Given the description of an element on the screen output the (x, y) to click on. 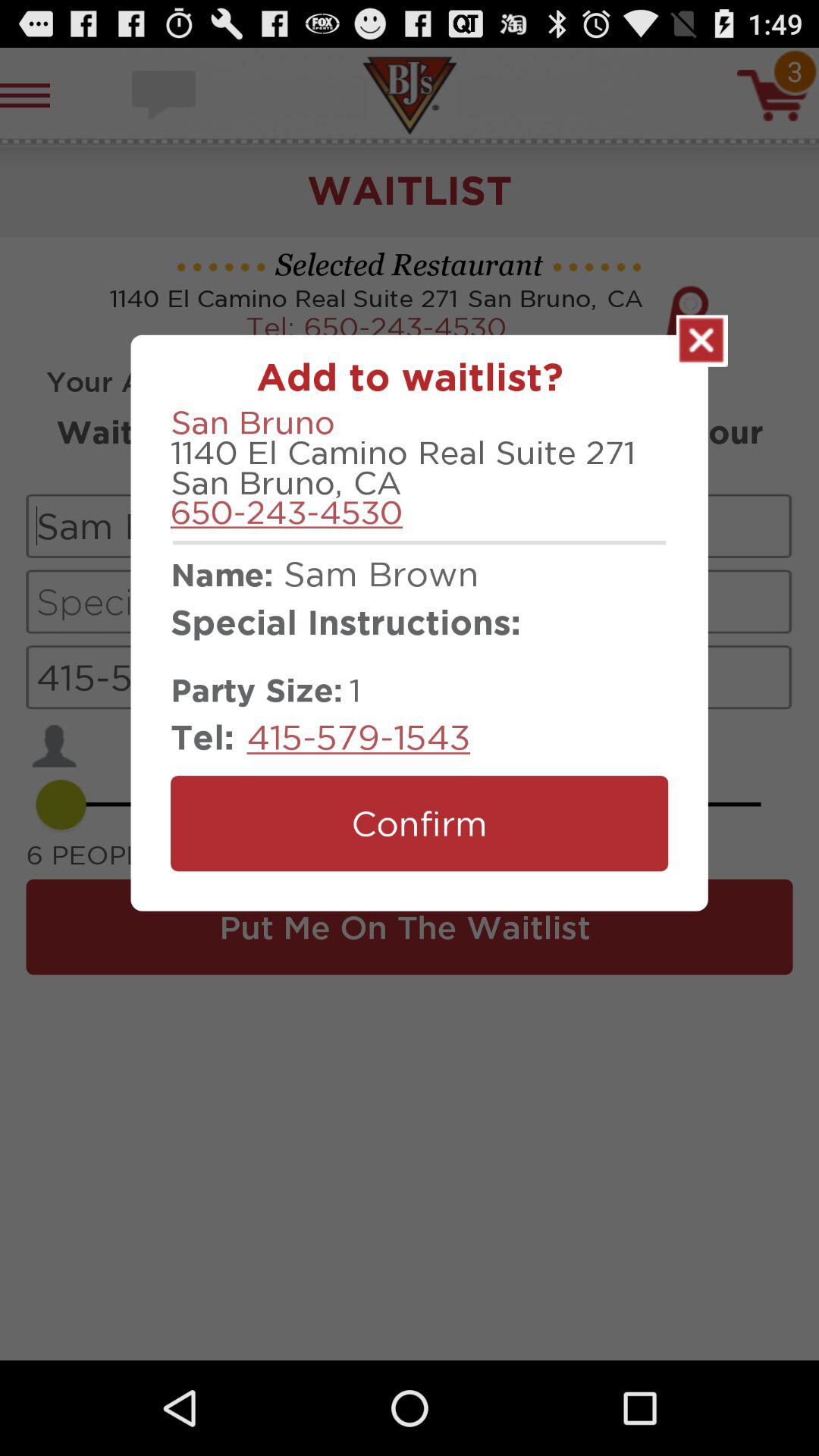
close window (702, 340)
